Given the description of an element on the screen output the (x, y) to click on. 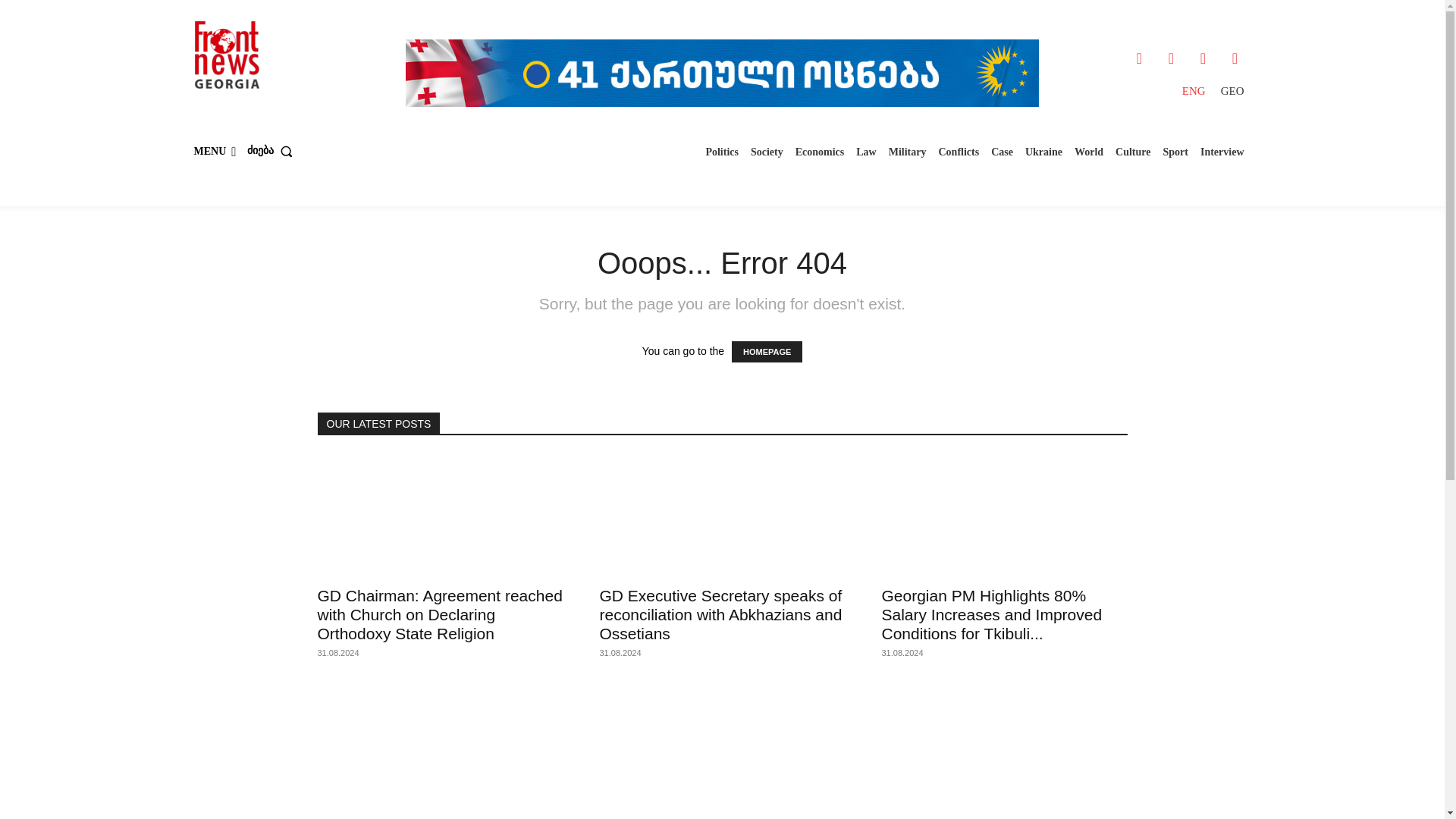
Facebook (1139, 58)
Military (907, 152)
Instagram (1171, 58)
GEO (1232, 91)
Society (766, 152)
Conflicts (959, 152)
Twitter (1203, 58)
Youtube (1235, 58)
